Given the description of an element on the screen output the (x, y) to click on. 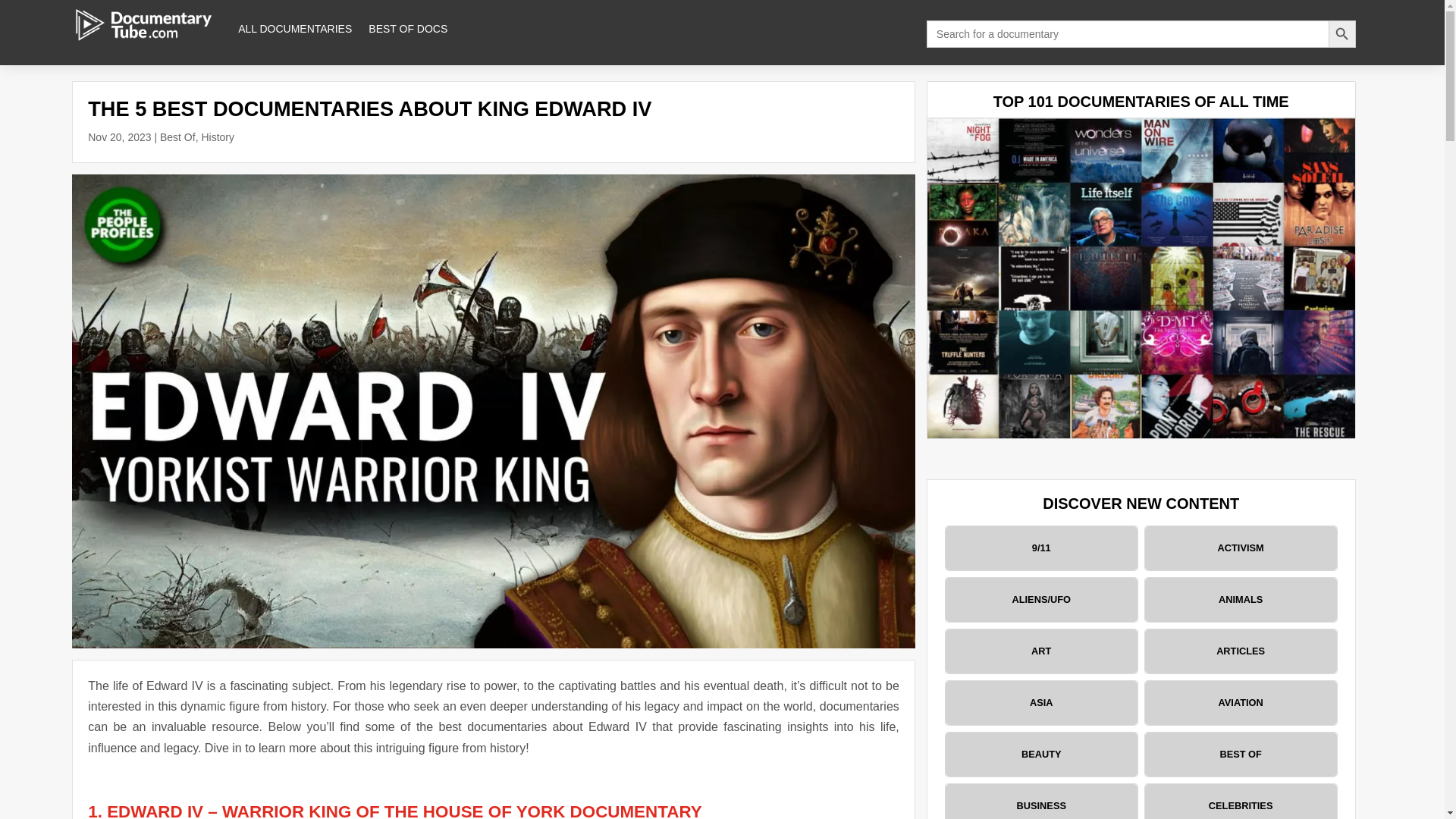
ANIMALS (1240, 599)
BUSINESS (1040, 801)
BEST OF DOCS (407, 28)
ARTICLES (1240, 651)
History (217, 137)
TOP 101 DOCUMENTARIES OF ALL TIME (1140, 101)
BEAUTY (1040, 754)
ACTIVISM (1240, 548)
CELEBRITIES (1240, 801)
Best Of (177, 137)
ALL DOCUMENTARIES (295, 28)
BEST OF (1240, 754)
ASIA (1040, 702)
AVIATION (1240, 702)
ART (1040, 651)
